Given the description of an element on the screen output the (x, y) to click on. 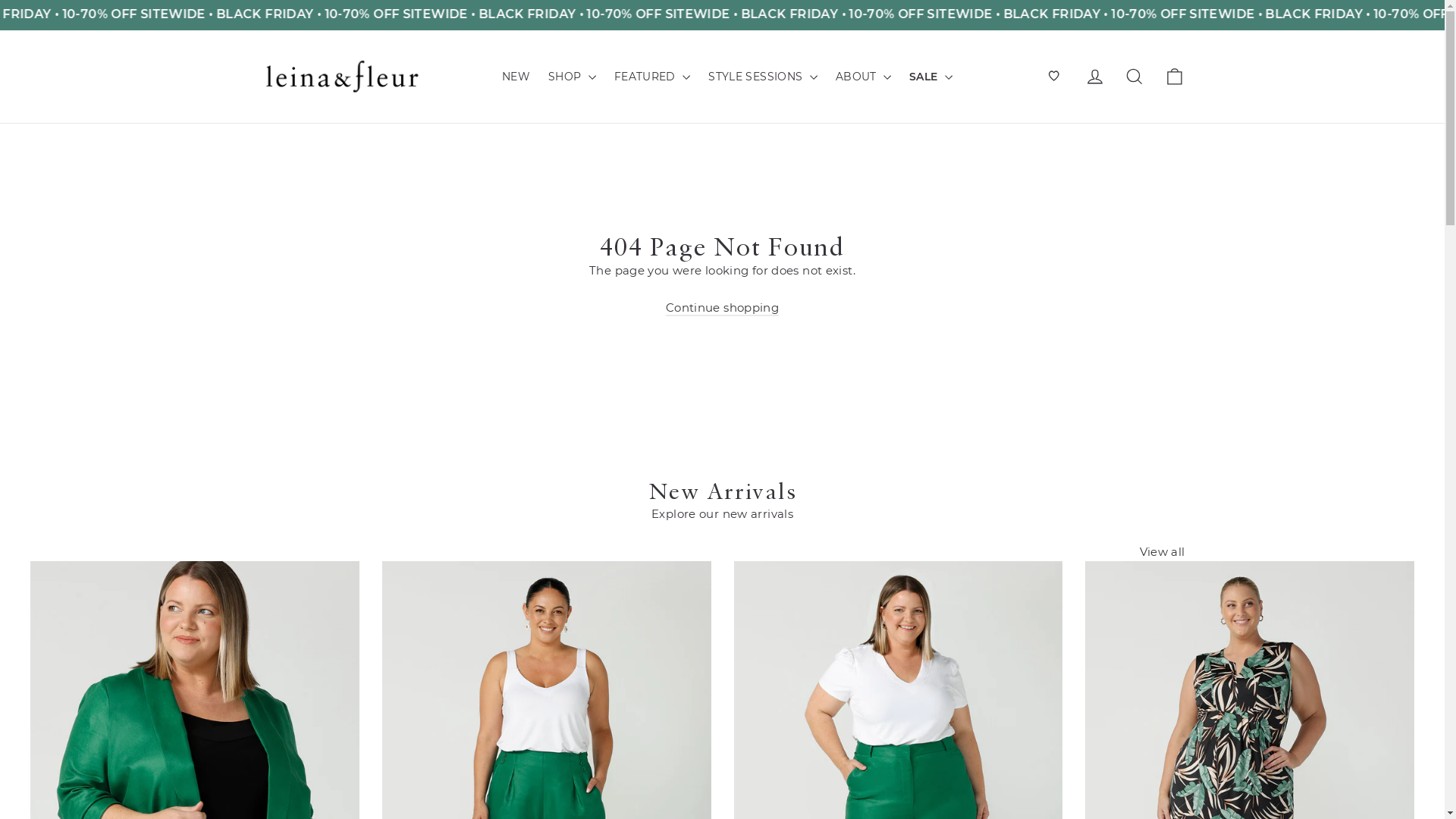
STYLE SESSIONS Element type: text (762, 76)
CART Element type: text (1173, 76)
WISHLIST Element type: text (1054, 76)
SEARCH Element type: text (1134, 76)
SHOP Element type: text (572, 76)
View all Element type: text (1161, 549)
Skip to content Element type: text (0, 0)
FEATURED Element type: text (652, 76)
ABOUT Element type: text (863, 76)
SALE Element type: text (930, 76)
LOG IN Element type: text (1094, 76)
Continue shopping Element type: text (721, 308)
